Given the description of an element on the screen output the (x, y) to click on. 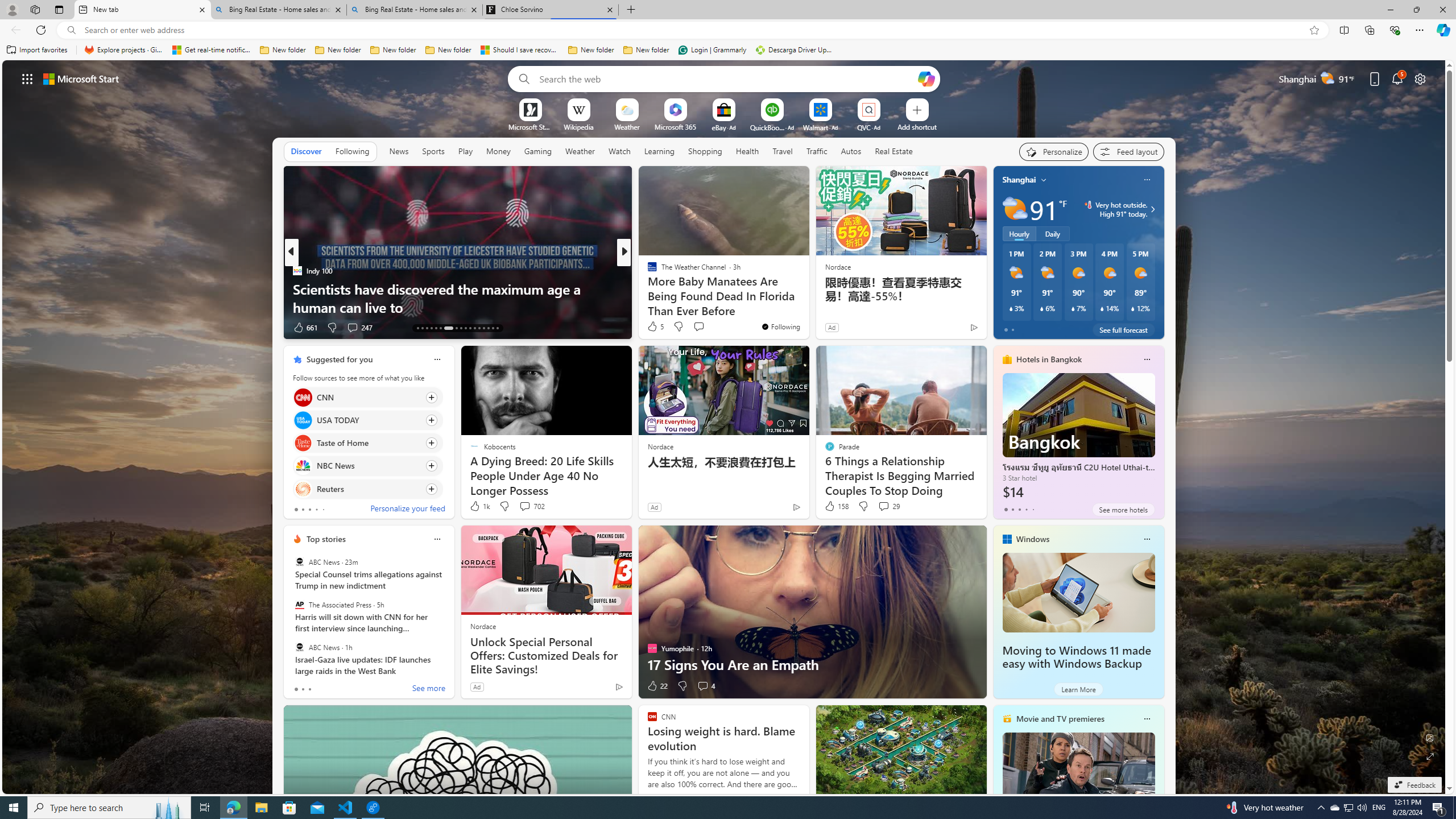
Weather (579, 151)
Microsoft 365 (675, 126)
269 Like (654, 327)
Login | Grammarly (712, 49)
Edit Background (1430, 737)
Weather (580, 151)
Microsoft Start Gaming (529, 126)
New folder (646, 49)
Play (465, 151)
Moving to Windows 11 made easy with Windows Backup (1077, 592)
Enter your search term (726, 78)
